Given the description of an element on the screen output the (x, y) to click on. 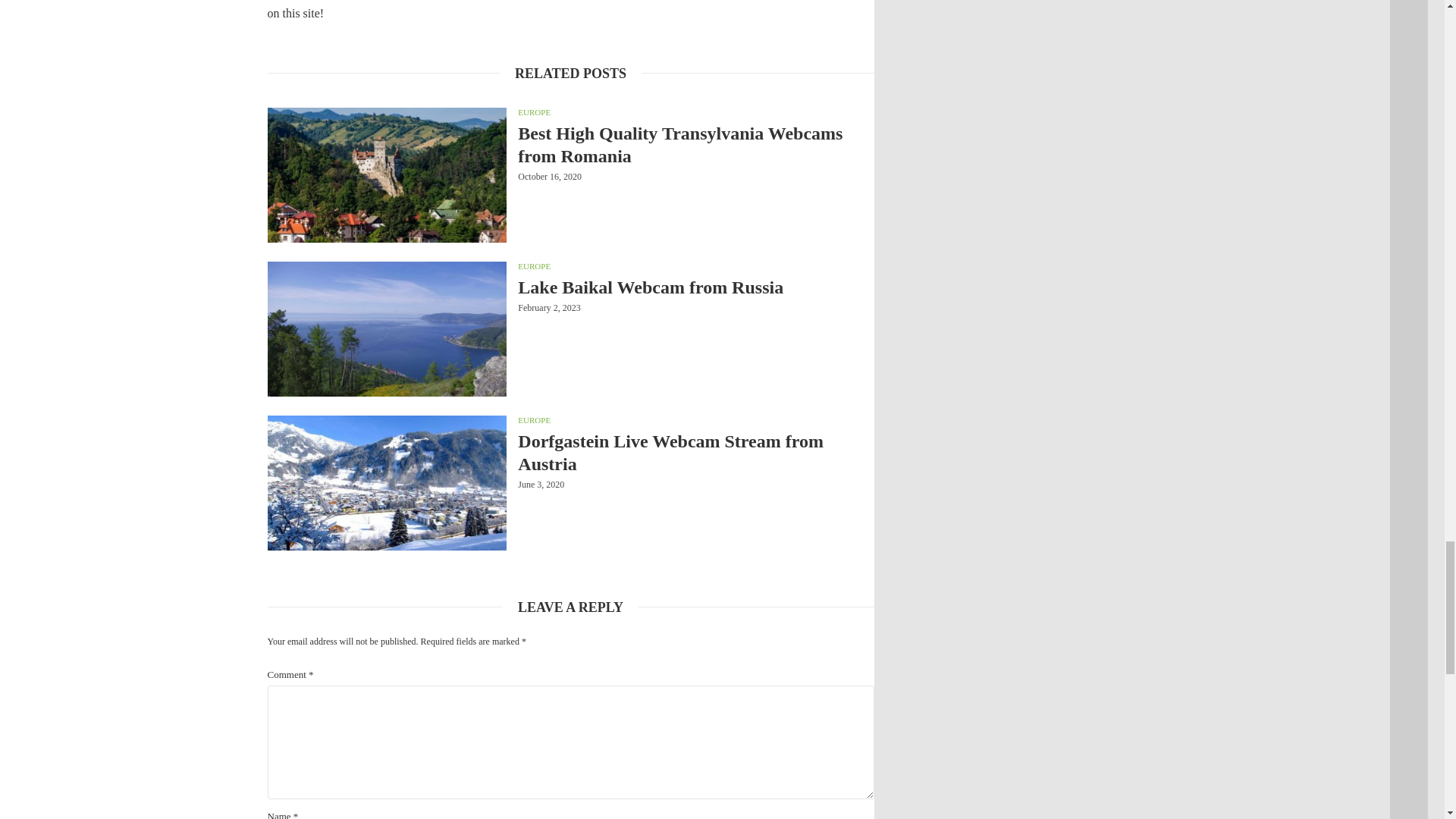
EUROPE (534, 112)
EUROPE (534, 419)
EUROPE (534, 265)
Dorfgastein Live Webcam Stream from Austria (695, 452)
Best High Quality Transylvania Webcams from Romania (695, 144)
Lake Baikal Webcam from Russia (695, 287)
